Given the description of an element on the screen output the (x, y) to click on. 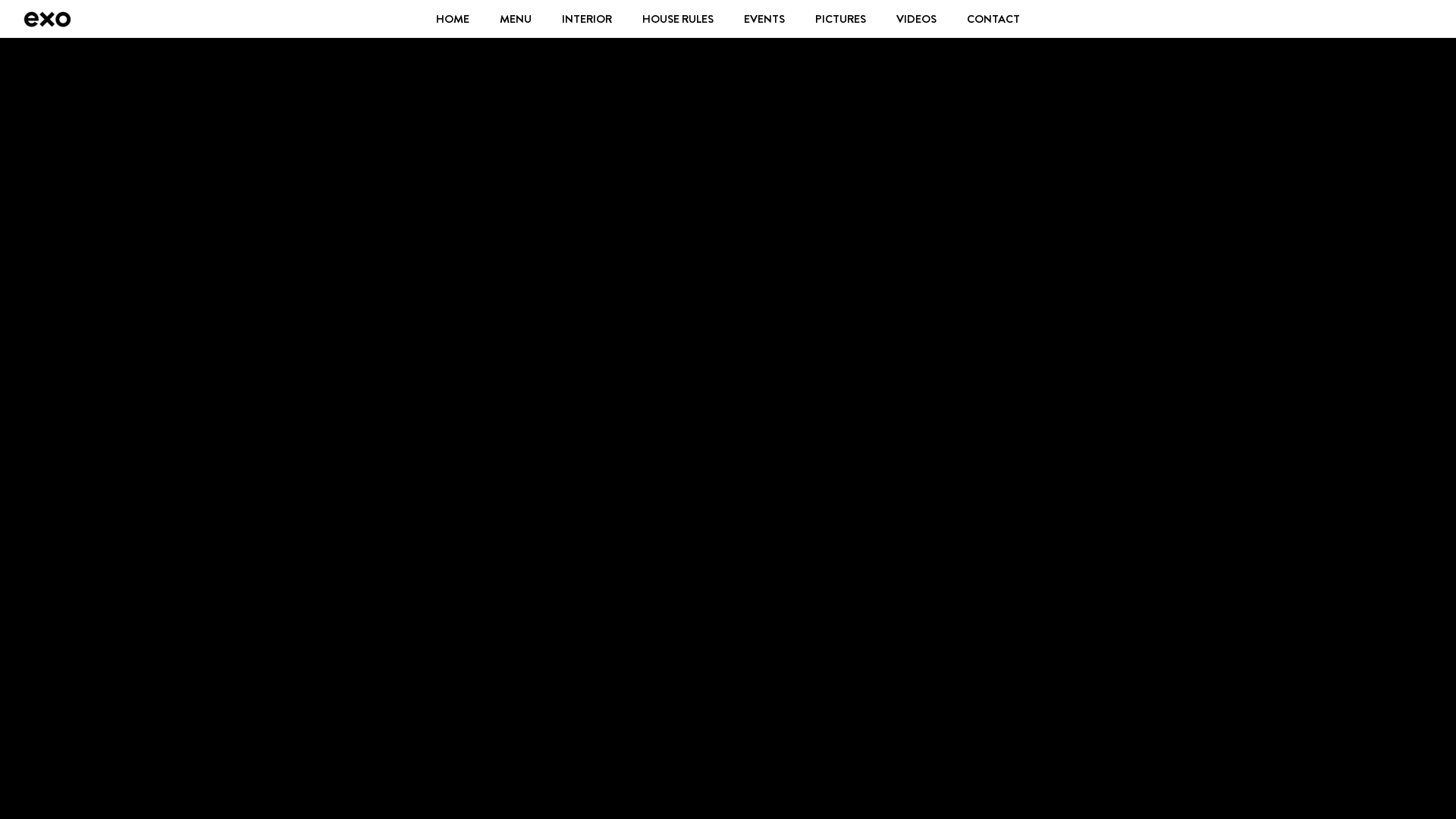
PICTURES Element type: text (840, 18)
EVENTS Element type: text (764, 18)
MENU Element type: text (515, 18)
VIDEOS Element type: text (916, 18)
CONTACT Element type: text (993, 18)
HOME Element type: text (452, 18)
HOUSE RULES Element type: text (677, 18)
INTERIOR Element type: text (586, 18)
